Given the description of an element on the screen output the (x, y) to click on. 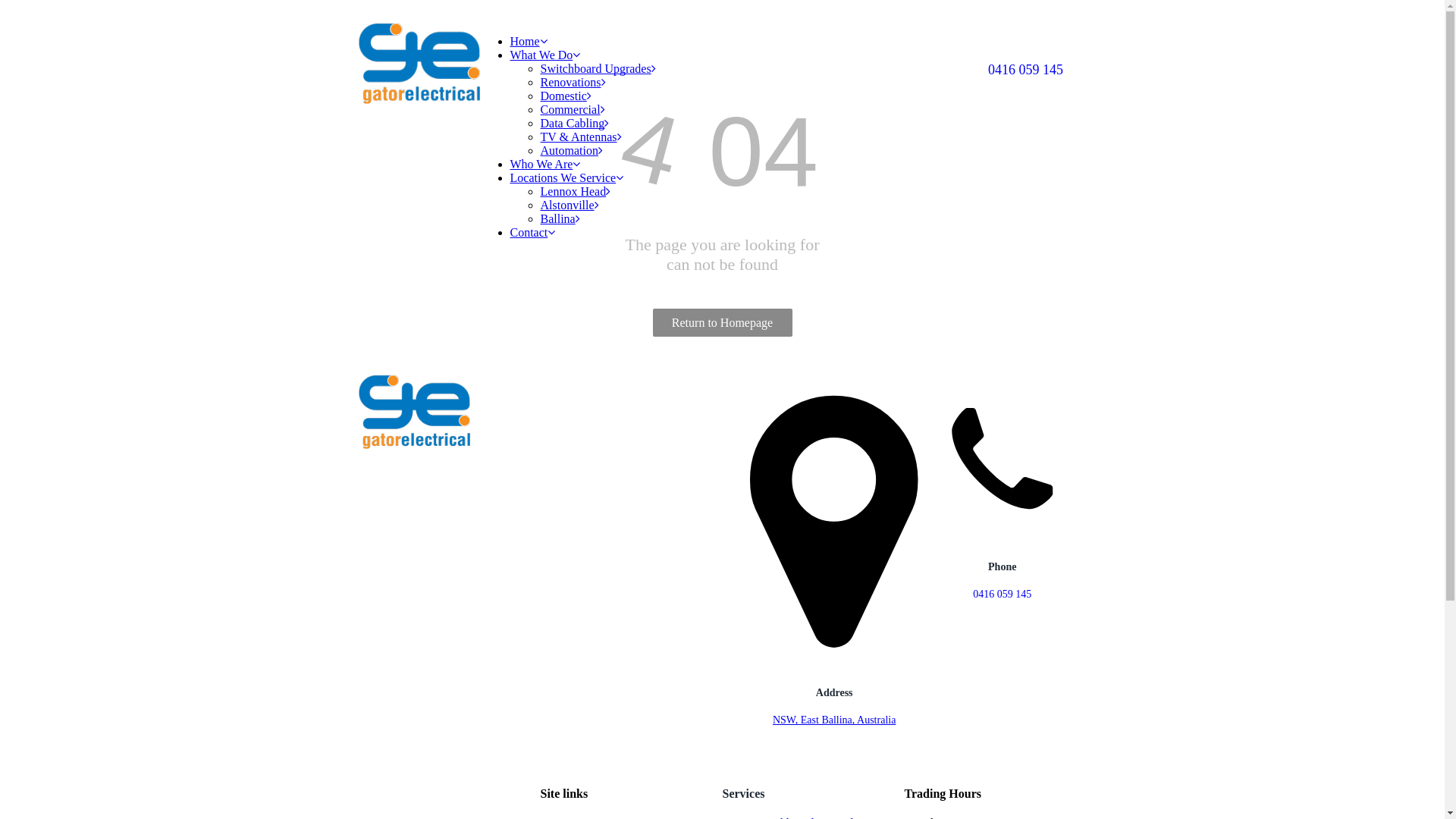
Locations We Service Element type: text (566, 177)
Data Cabling Element type: text (573, 122)
Who We Are Element type: text (544, 163)
Renovations Element type: text (572, 81)
Domestic Element type: text (564, 95)
Welcome to Gator Electrical: Local Electricians in Ballina Element type: hover (413, 411)
Lennox Head Element type: text (574, 191)
Return to Homepage Element type: text (721, 322)
Location Icon Element type: hover (833, 522)
What We Do Element type: text (544, 54)
Automation Element type: text (570, 150)
0416 059 145 Element type: text (1024, 69)
Alstonville Element type: text (568, 204)
www.localsearch.com.au Element type: hover (442, 463)
Find Us On Facebook Element type: hover (369, 463)
Welcome to Gator Electrical: Local Electricians in Ballina Element type: hover (418, 62)
TV & Antennas Element type: text (580, 136)
Contact Element type: text (532, 231)
Home Element type: text (527, 40)
Switchboard Upgrades Element type: text (597, 68)
Find Us On GMB Element type: hover (406, 463)
Phone Icon Element type: hover (1002, 460)
Commercial Element type: text (571, 109)
0416 059 145 Element type: text (1001, 593)
Ballina Element type: text (559, 218)
NSW, East Ballina, Australia Element type: text (833, 719)
